Given the description of an element on the screen output the (x, y) to click on. 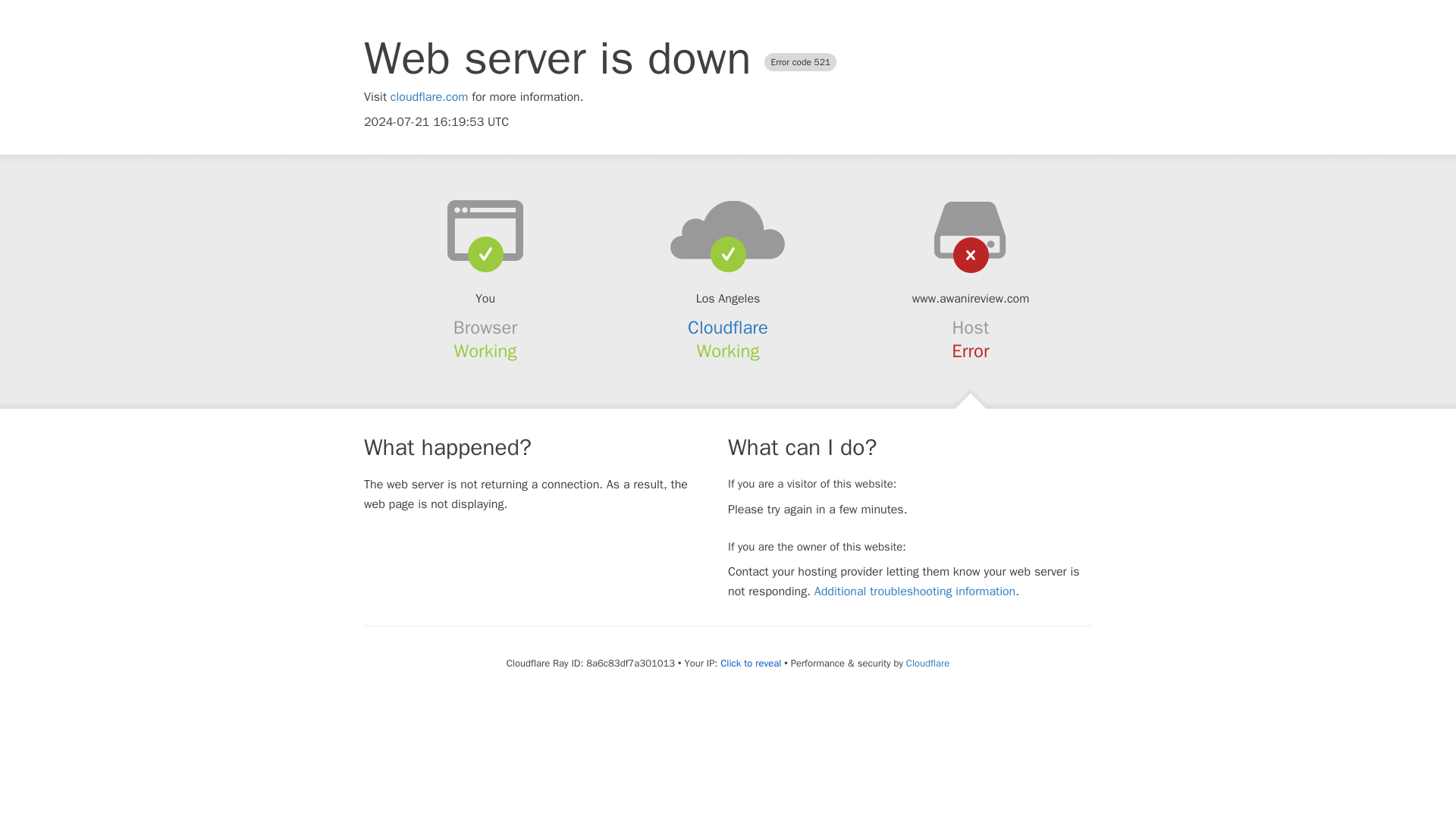
Click to reveal (750, 663)
Additional troubleshooting information (913, 590)
Cloudflare (927, 662)
cloudflare.com (429, 96)
Cloudflare (727, 327)
